Given the description of an element on the screen output the (x, y) to click on. 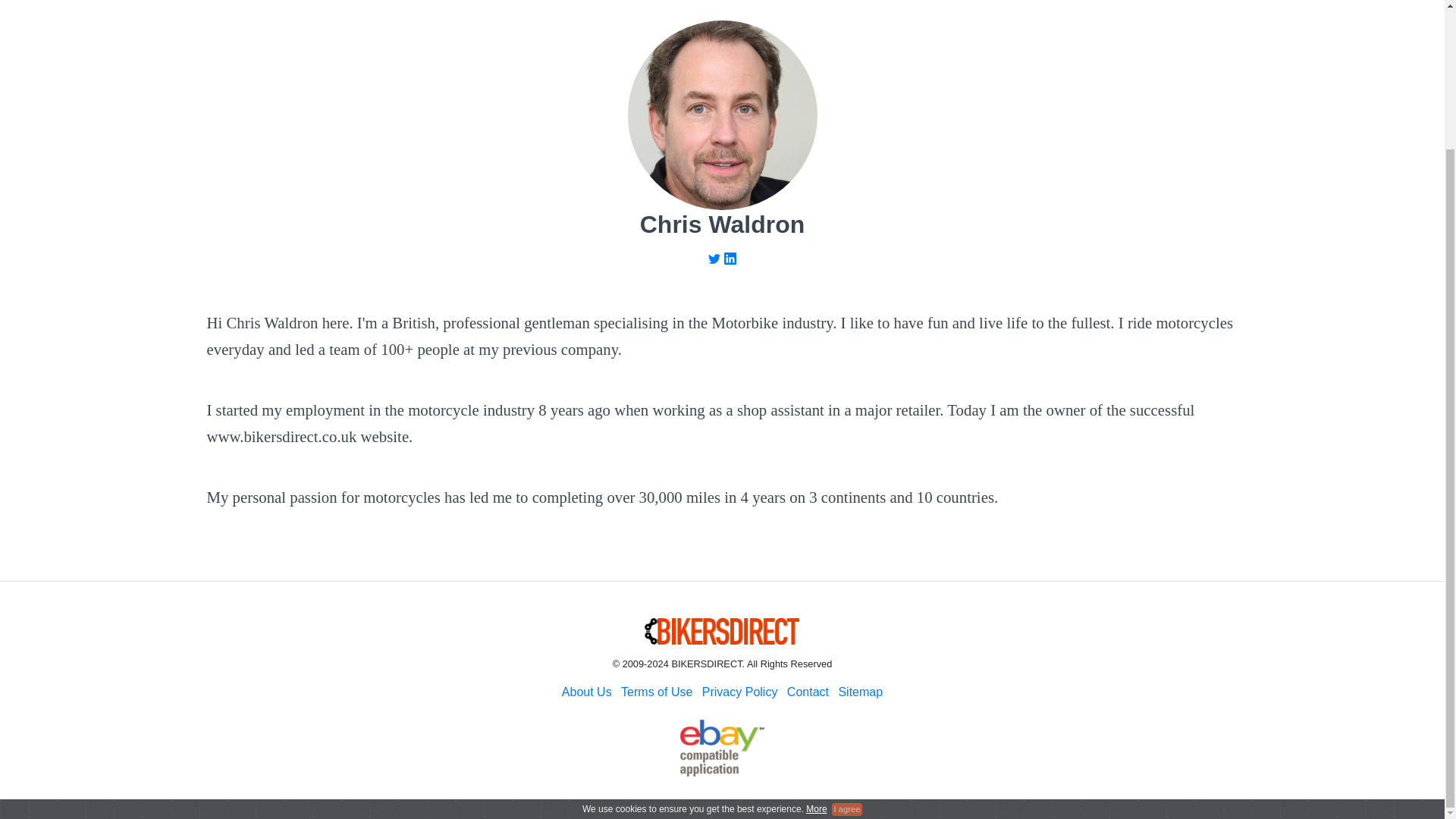
Terms of Use (657, 691)
More (816, 636)
About Us (586, 691)
Contact (807, 691)
Sitemap (860, 691)
I agree (846, 636)
Privacy Policy (739, 691)
